Given the description of an element on the screen output the (x, y) to click on. 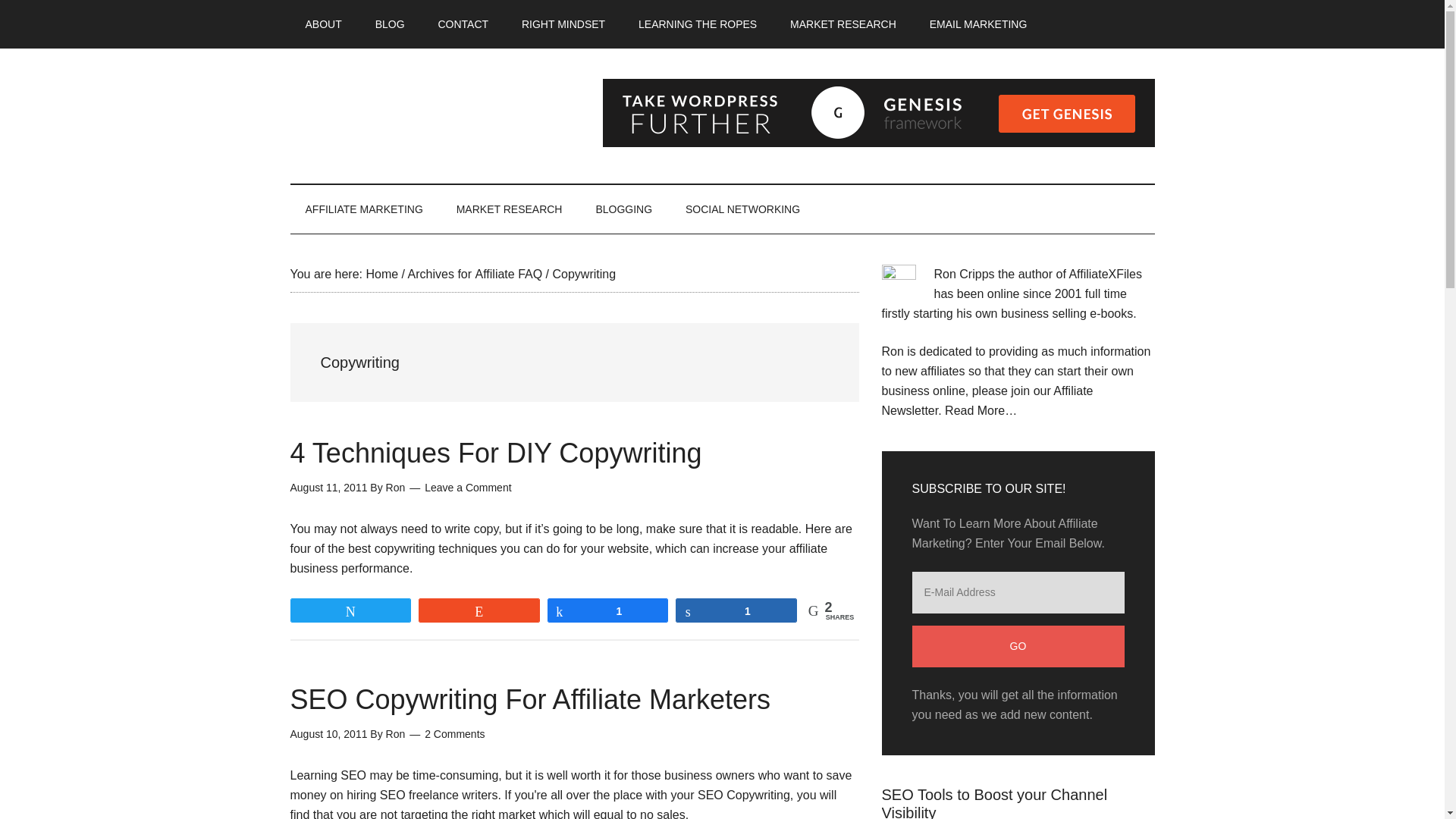
Email Marketing Building Trust and Relationships (978, 24)
4 Techniques For DIY Copywriting (495, 452)
LEARNING THE ROPES (697, 24)
1 (736, 609)
Affiliate FAQ (509, 273)
RIGHT MINDSET (563, 24)
ABOUT (322, 24)
Having The Right Mindset For Affiliate Marketing (563, 24)
BLOGGING (622, 209)
Contact Page (462, 24)
